Given the description of an element on the screen output the (x, y) to click on. 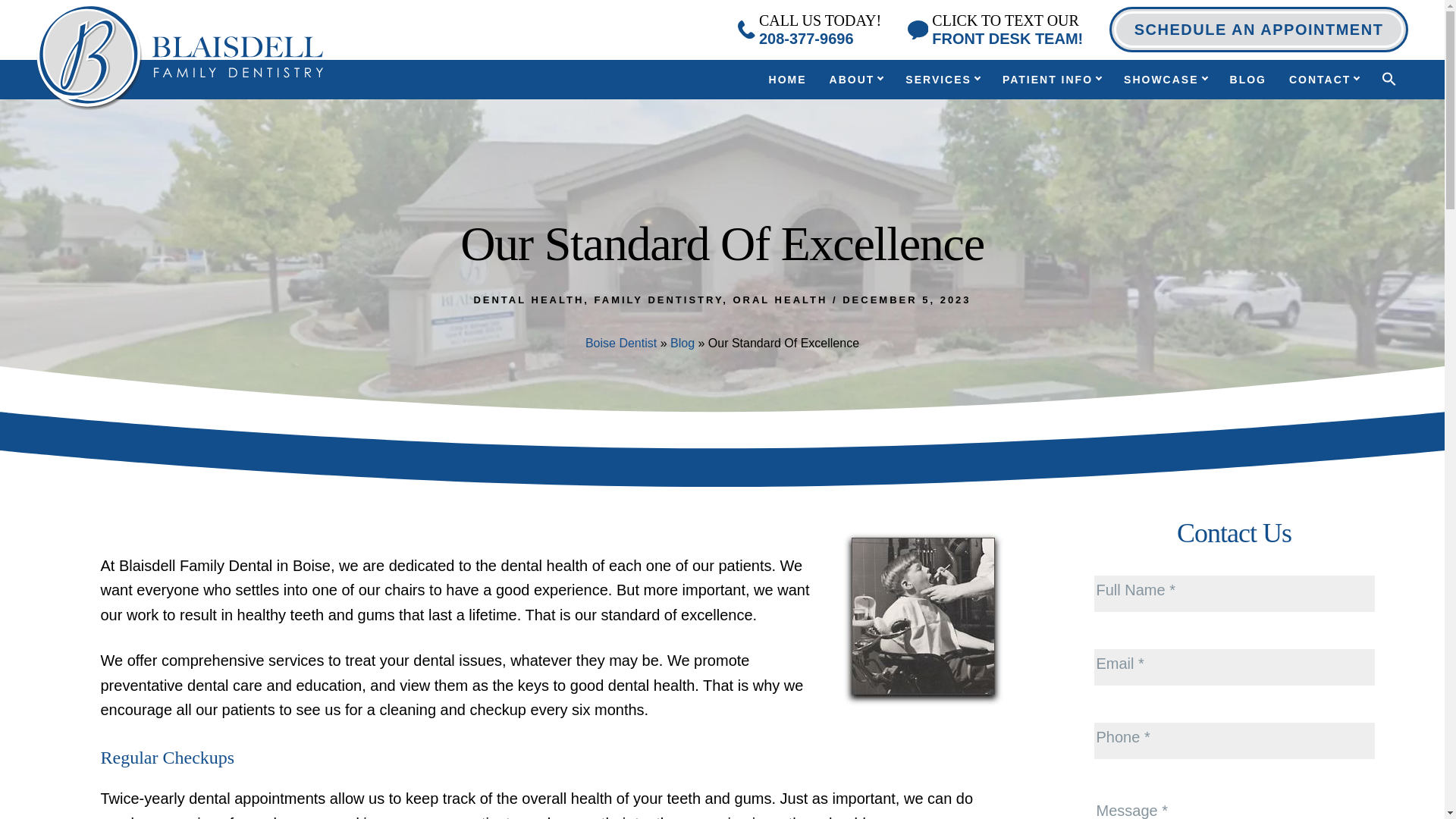
ABOUT (856, 79)
SERVICES (942, 79)
SCHEDULE AN APPOINTMENT (1259, 29)
HOME (995, 29)
Skip to content (787, 79)
